Given the description of an element on the screen output the (x, y) to click on. 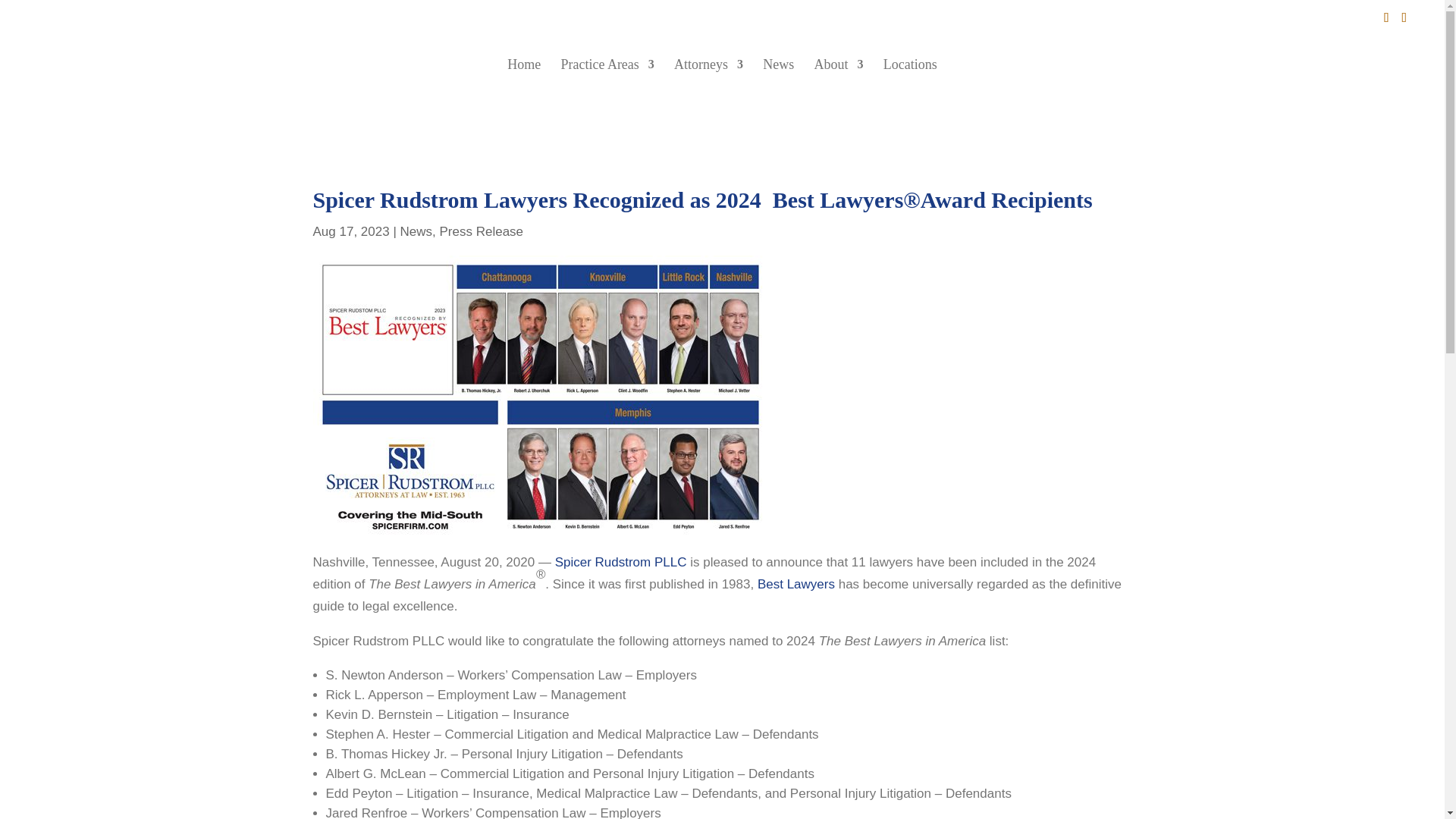
A810B19A-39FB-4F30-91C6-B0B9B5F8130B (540, 397)
Practice Areas (606, 86)
